Given the description of an element on the screen output the (x, y) to click on. 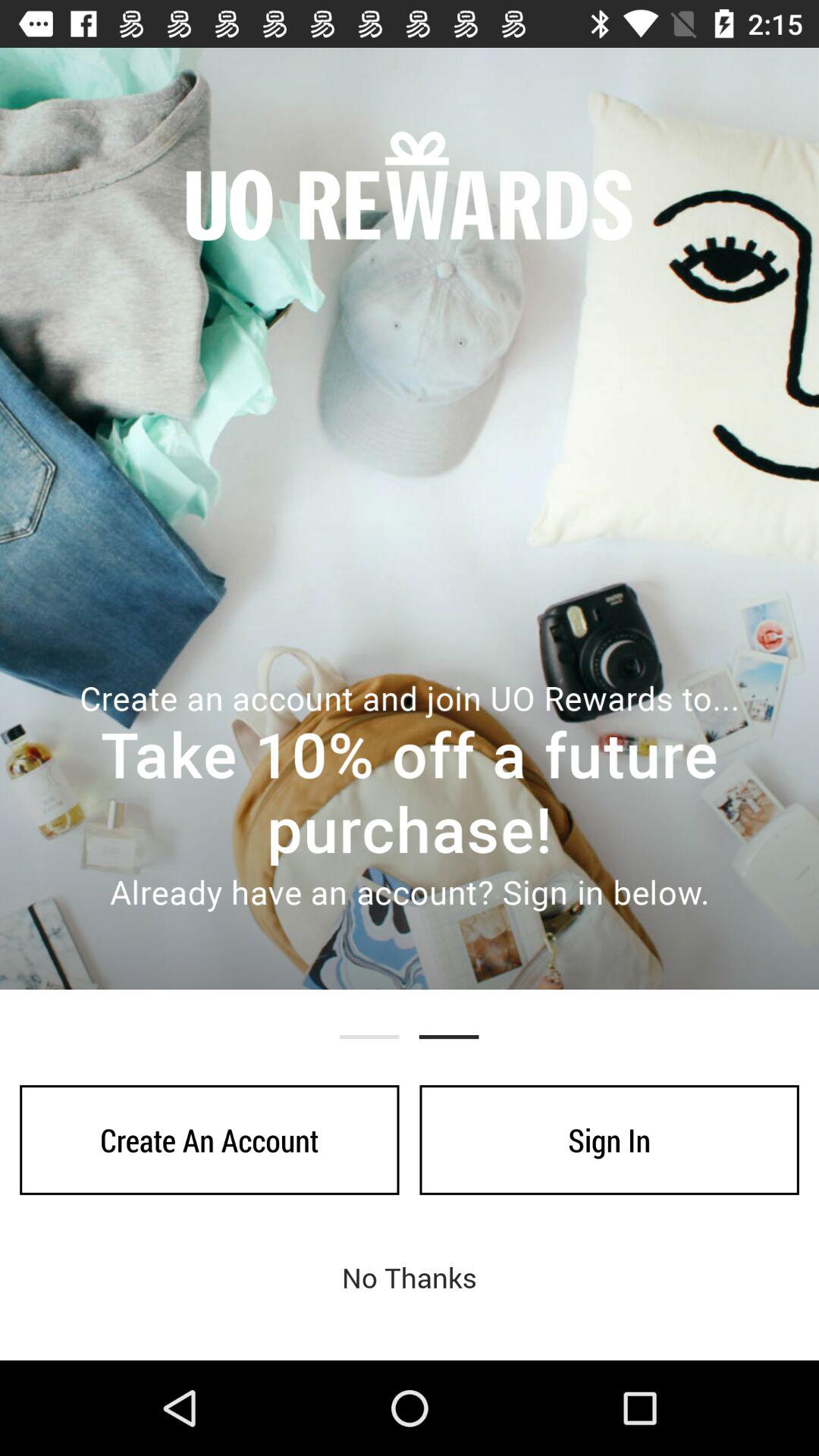
open the icon at the bottom left corner (209, 1139)
